Given the description of an element on the screen output the (x, y) to click on. 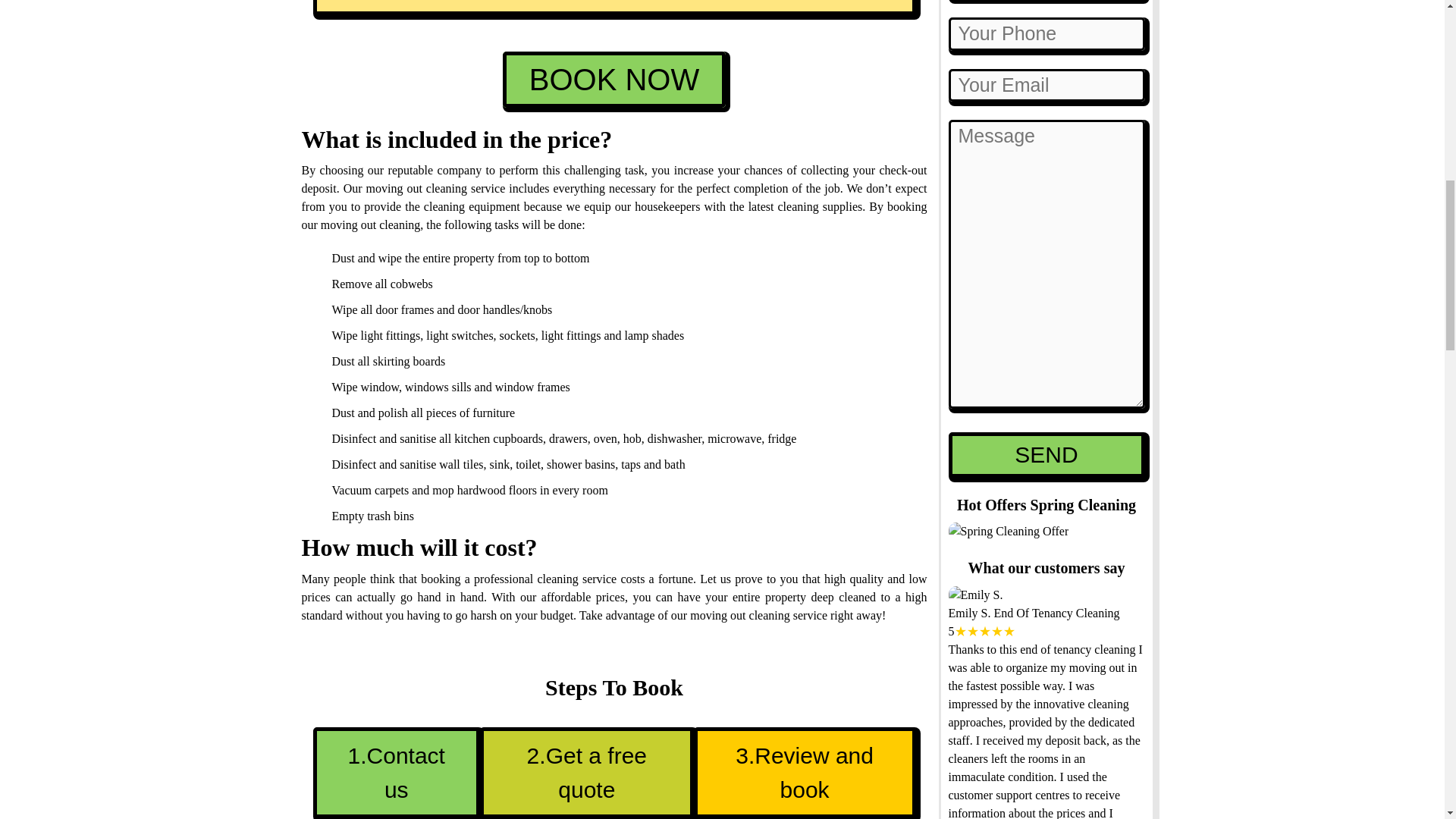
Send (1045, 454)
BOOK NOW (613, 79)
Send (1045, 454)
